Given the description of an element on the screen output the (x, y) to click on. 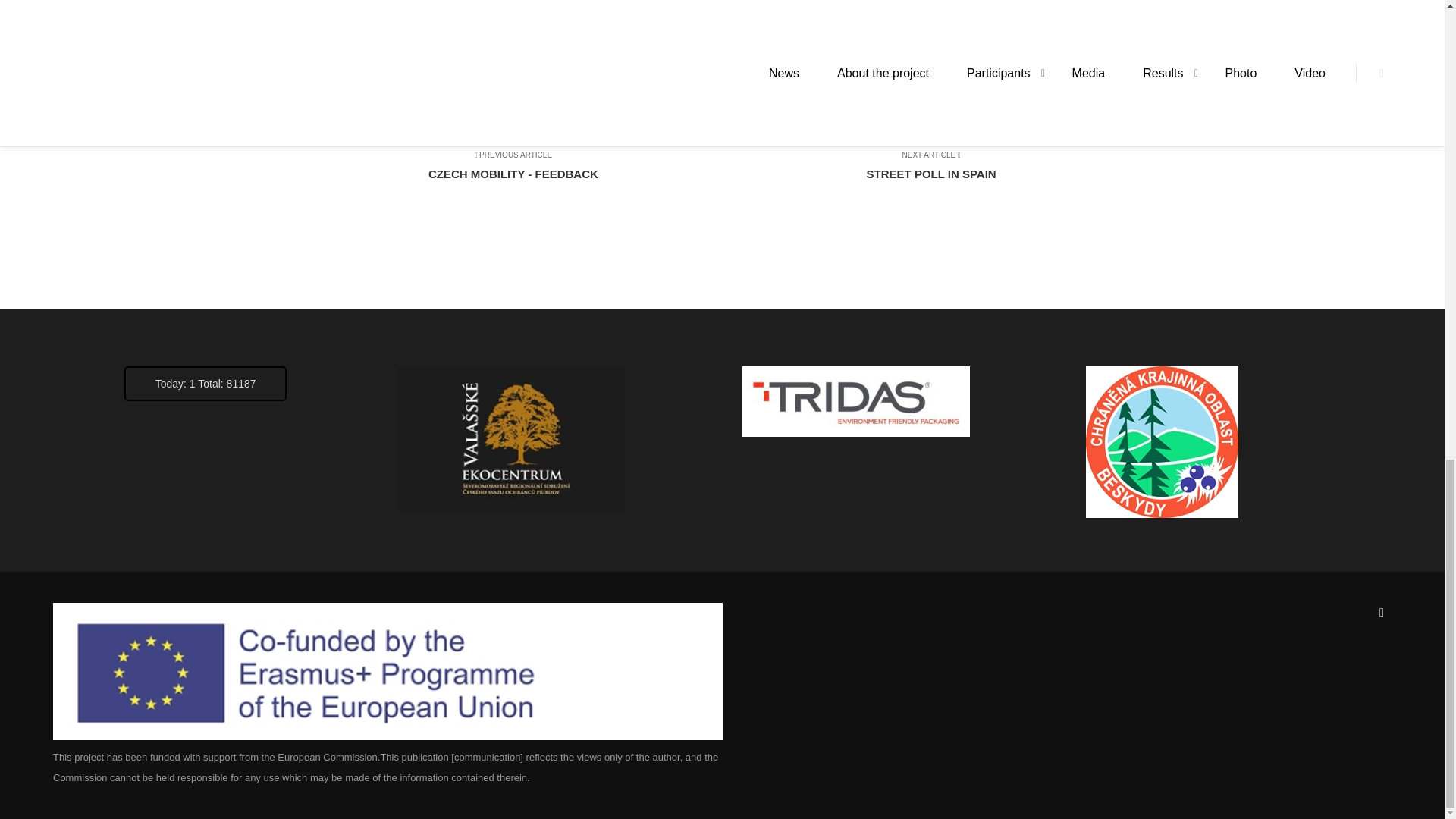
YouTube (920, 172)
